Given the description of an element on the screen output the (x, y) to click on. 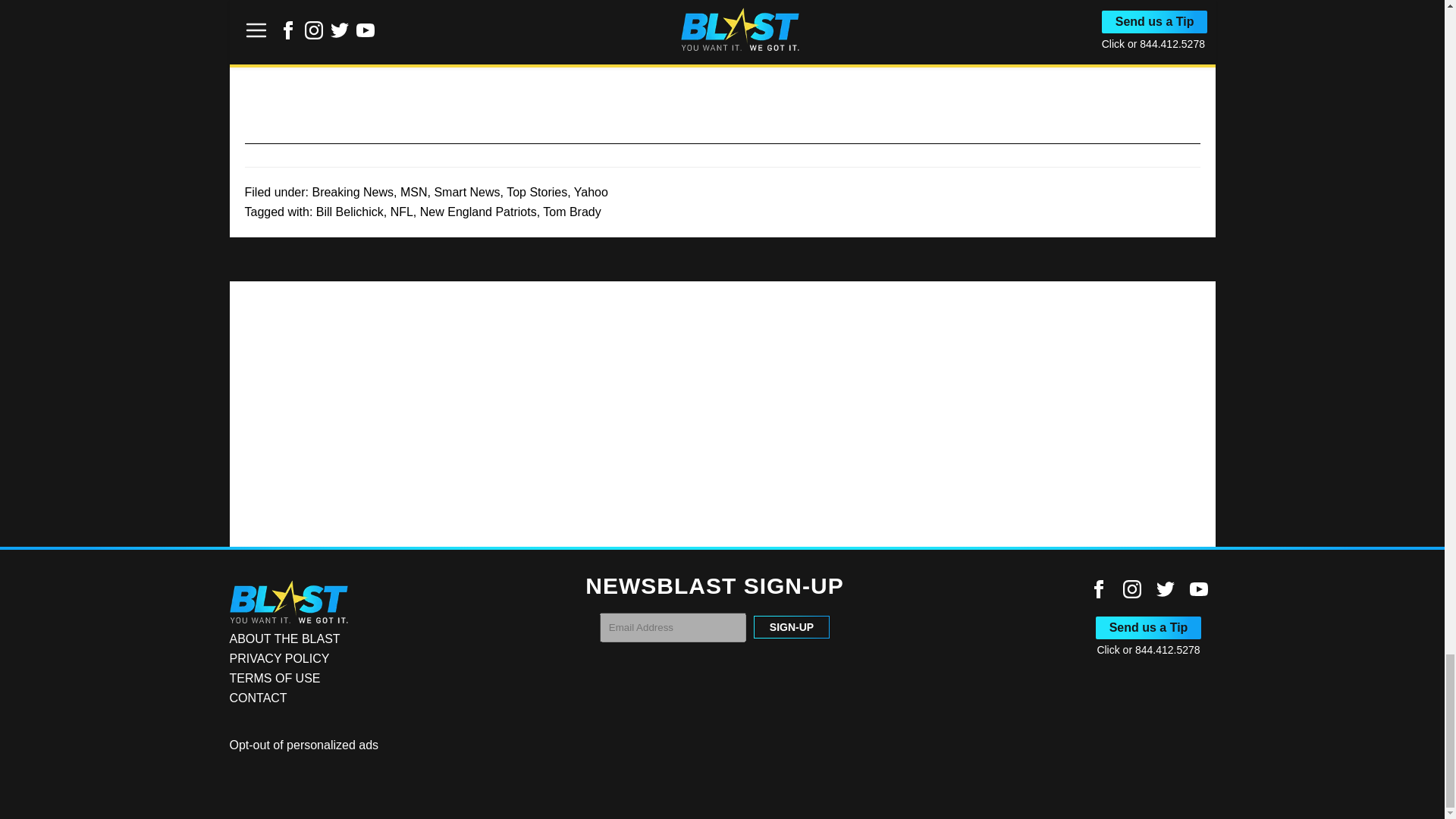
Link to Facebook (1097, 588)
Link to Youtube (1198, 588)
Tom Brady (571, 211)
Breaking News (352, 192)
CONTACT (257, 697)
Bill Belichick (349, 211)
SIGN-UP (791, 626)
MSN (414, 192)
Yahoo (590, 192)
Link to Instagram (1131, 588)
ABOUT THE BLAST (283, 638)
Top Stories (536, 192)
Smart News (466, 192)
Link to Twitter (1164, 588)
New England Patriots (478, 211)
